Given the description of an element on the screen output the (x, y) to click on. 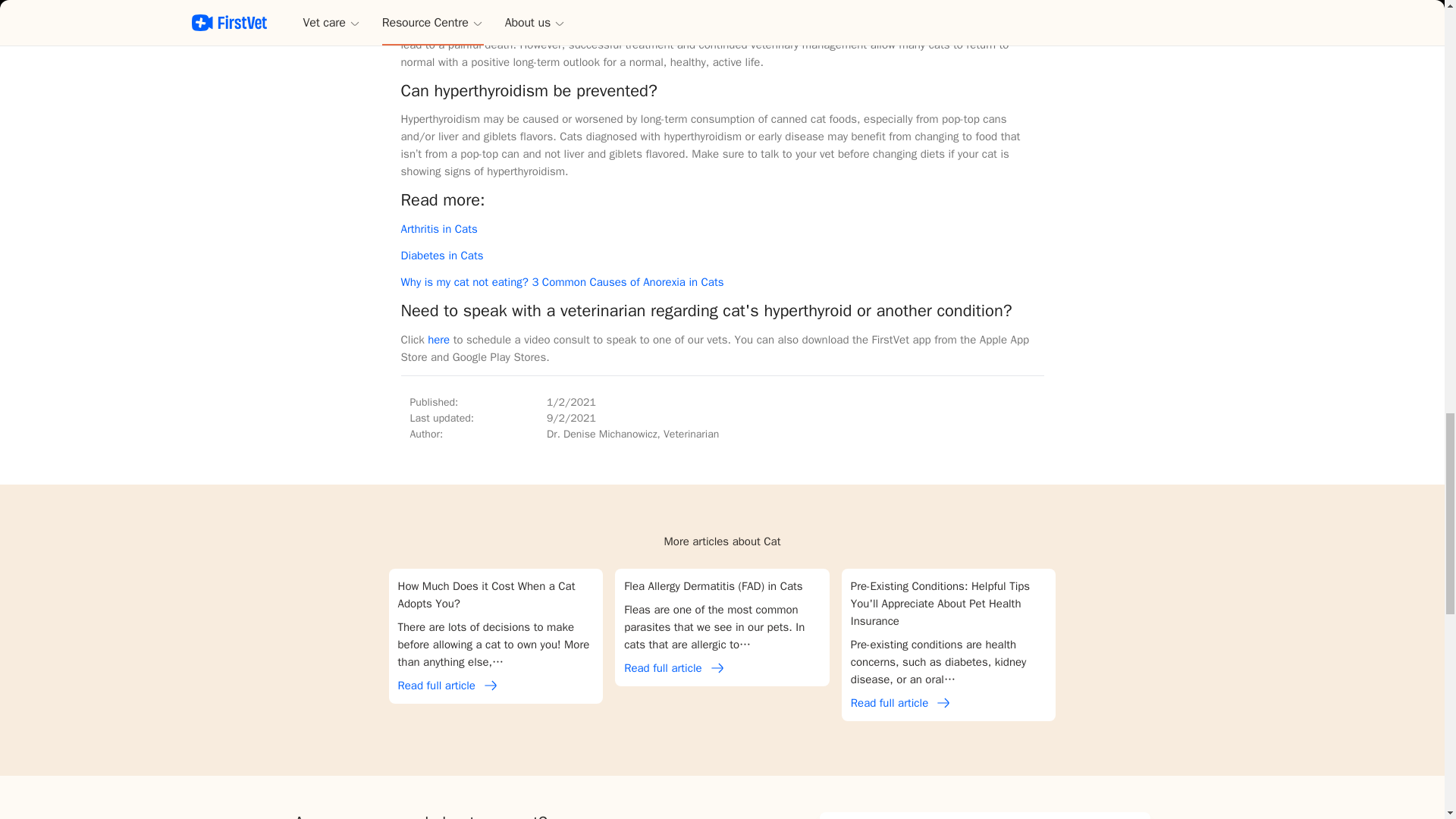
Diabetes in Cats (441, 255)
here (438, 339)
Arthritis in Cats (438, 228)
